Given the description of an element on the screen output the (x, y) to click on. 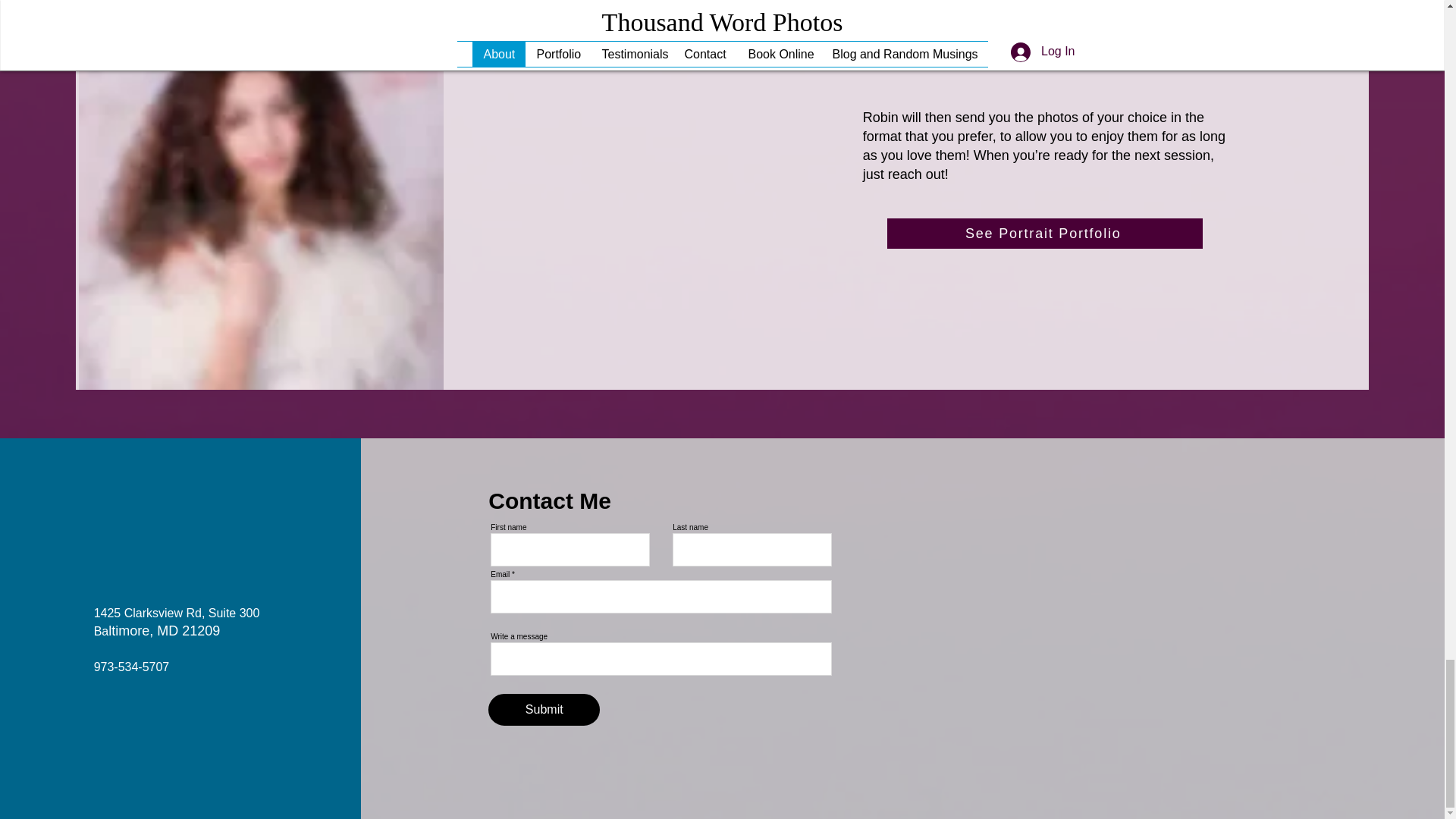
See Portrait Portfolio (1044, 233)
Submit (543, 709)
